Given the description of an element on the screen output the (x, y) to click on. 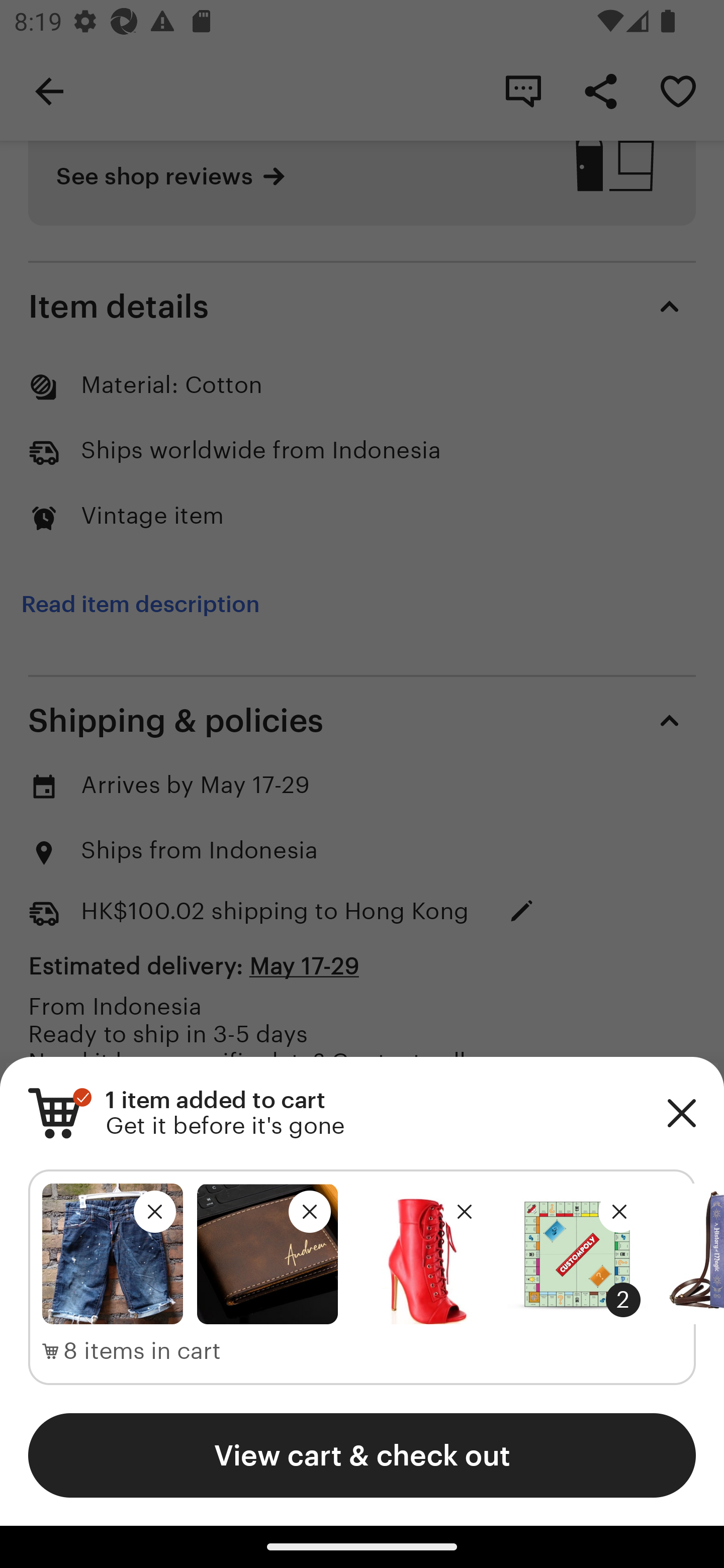
8 items in cart (131, 1351)
View cart & check out (361, 1454)
